Given the description of an element on the screen output the (x, y) to click on. 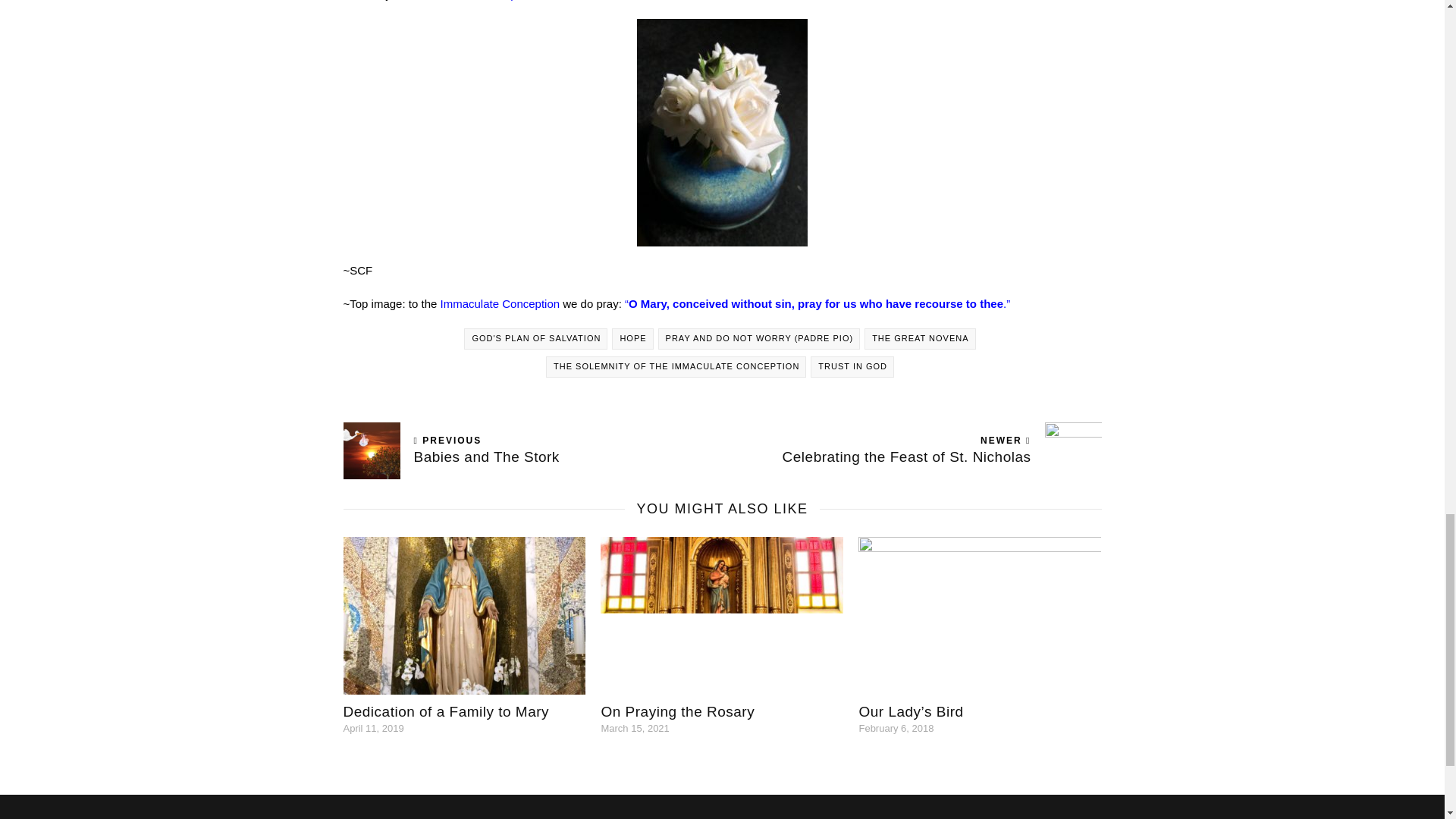
the Immaculate Conception (532, 450)
THE GREAT NOVENA (676, 711)
THE SOLEMNITY OF THE IMMACULATE CONCEPTION (919, 338)
TRUST IN GOD (911, 450)
Dedication of a Family to Mary (676, 366)
Immaculate Conception (851, 366)
GOD'S PLAN OF SALVATION (445, 711)
HOPE (500, 303)
